Given the description of an element on the screen output the (x, y) to click on. 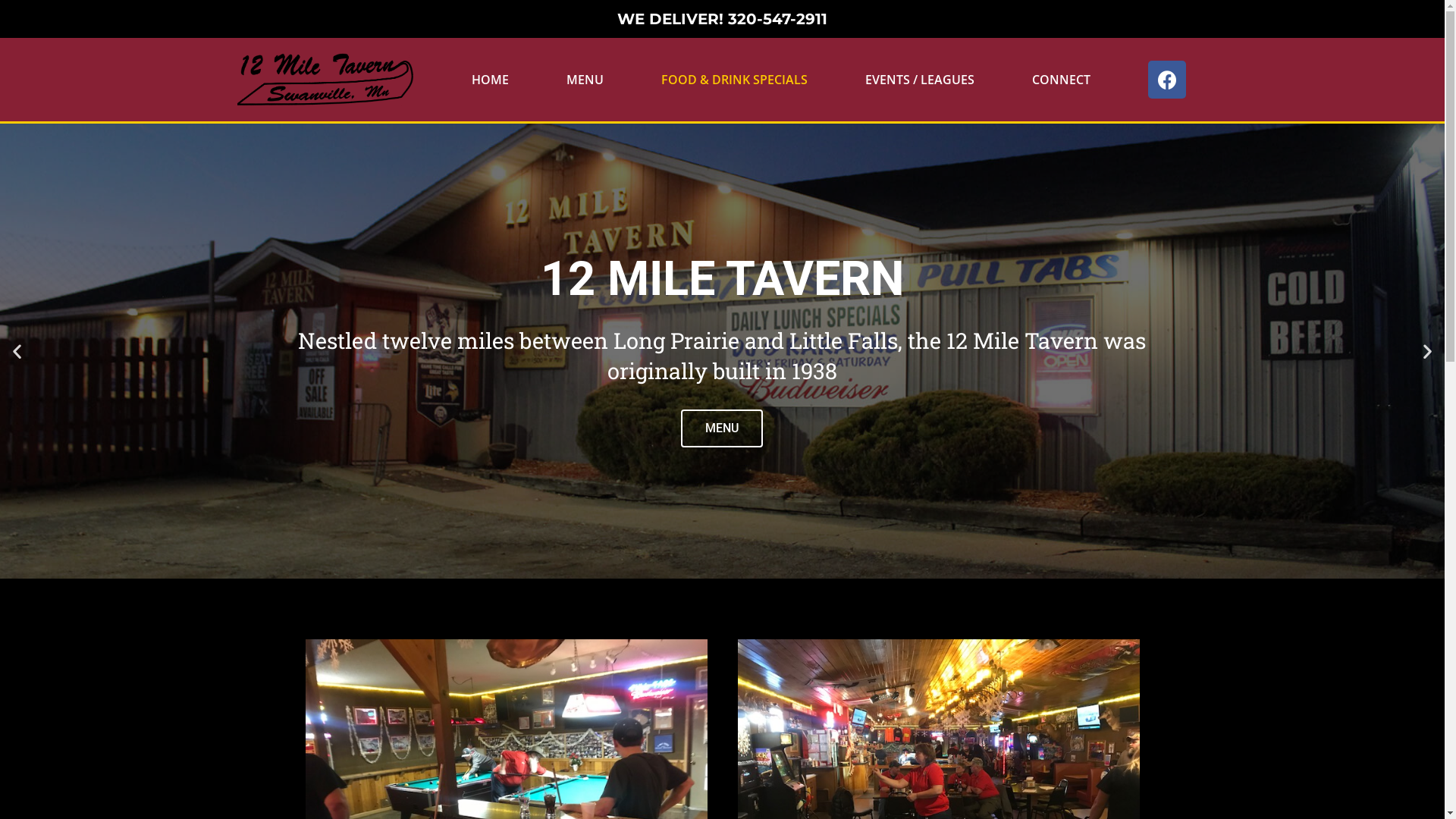
FOOD & DRINK SPECIALS Element type: text (734, 79)
CONNECT Element type: text (1060, 79)
MENU Element type: text (584, 79)
320-547-2911 Element type: text (777, 18)
EVENTS / LEAGUES Element type: text (919, 79)
HOME Element type: text (490, 79)
